Given the description of an element on the screen output the (x, y) to click on. 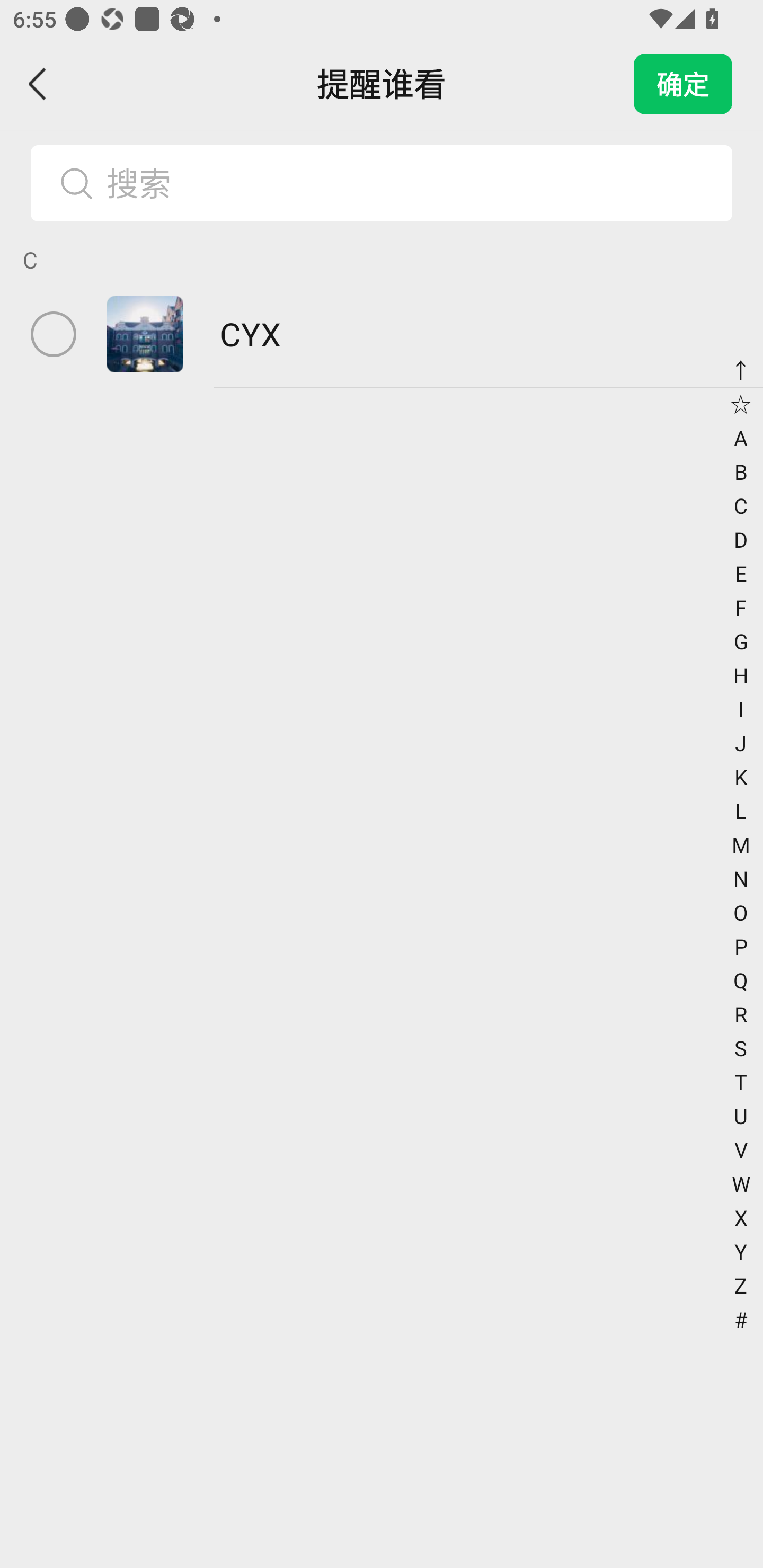
返回 (38, 83)
确定 (683, 83)
搜索 (411, 183)
CYX (381, 333)
